Given the description of an element on the screen output the (x, y) to click on. 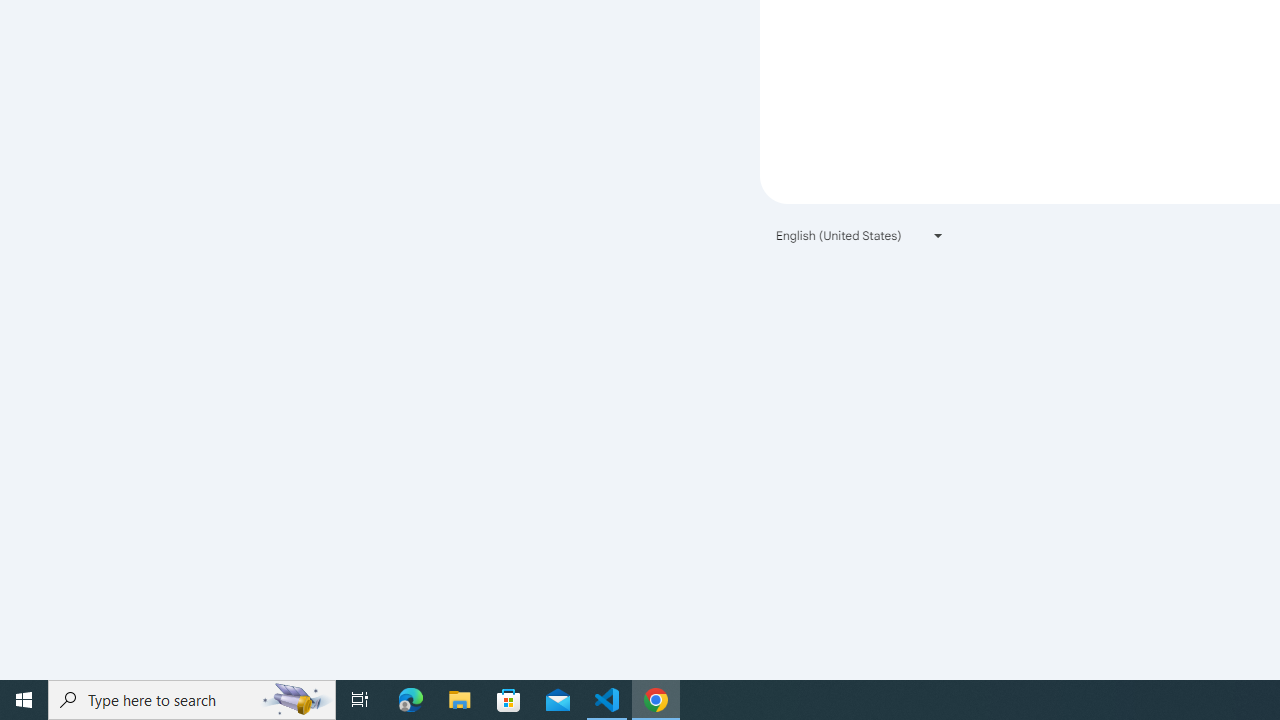
English (United States) (860, 234)
